Given the description of an element on the screen output the (x, y) to click on. 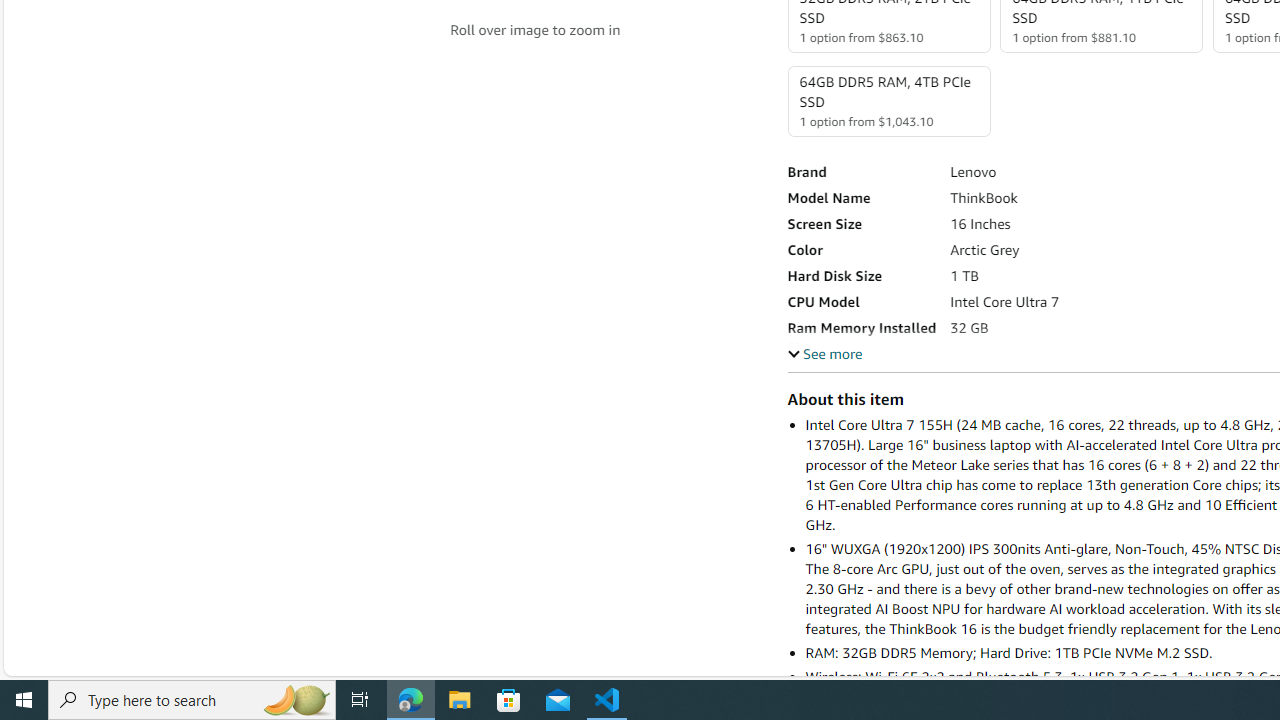
See more (824, 353)
64GB DDR5 RAM, 4TB PCIe SSD 1 option from $1,043.10 (888, 101)
